Given the description of an element on the screen output the (x, y) to click on. 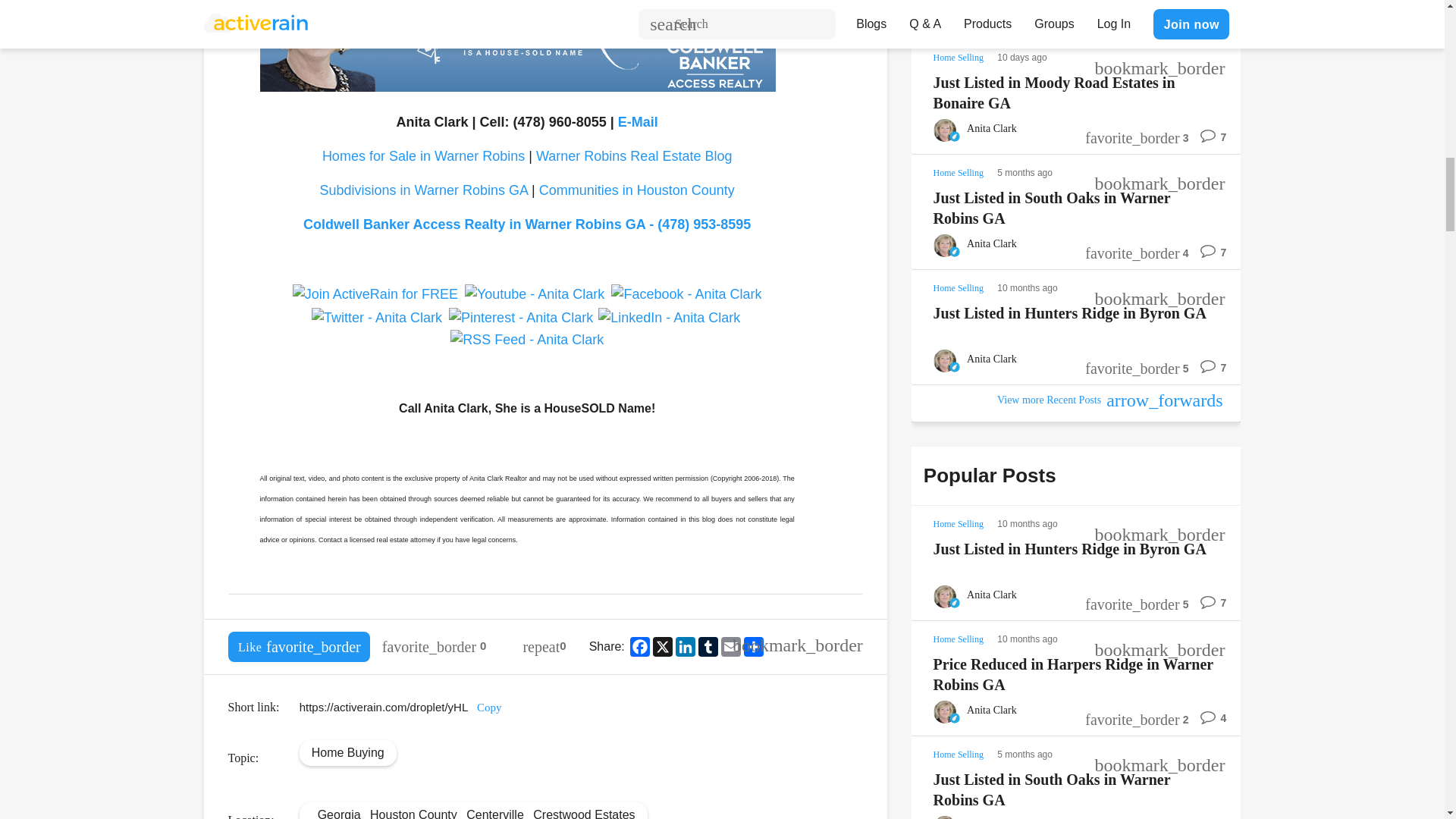
Youtube - Anita Clark (534, 294)
Communities in Houston County (636, 190)
Twitter - Anita Clark (376, 317)
Homes for Sale in Warner Robins (422, 155)
Subdivisions in Warner Robins GA (423, 190)
Warner Robins Real Estate Blog (633, 155)
E-Mail (637, 121)
Anita Clark's Email Address (637, 121)
Communities in Houston County (636, 190)
Join ActiveRain for FREE (375, 294)
